Given the description of an element on the screen output the (x, y) to click on. 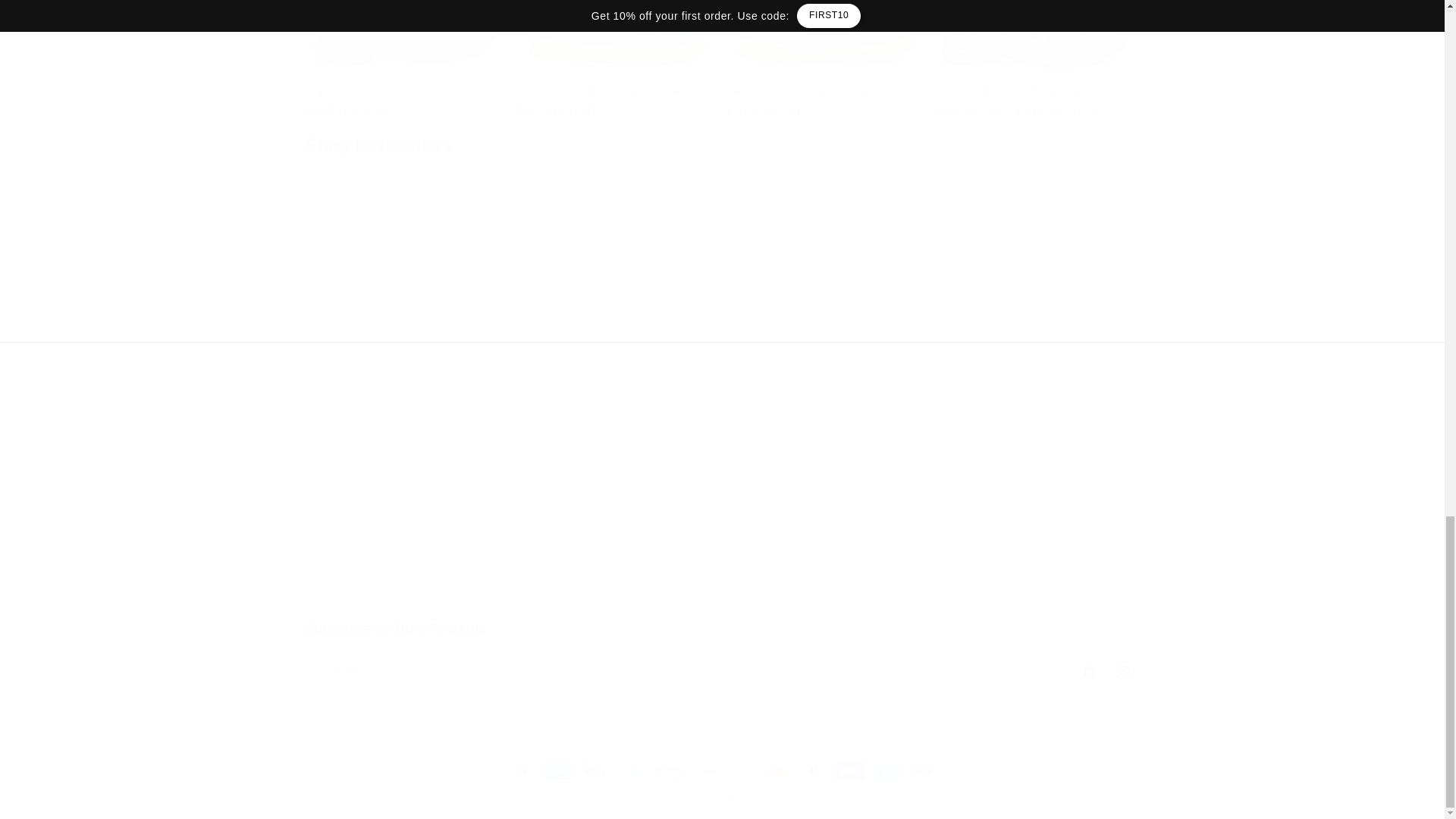
Shop best sellers (721, 653)
